Given the description of an element on the screen output the (x, y) to click on. 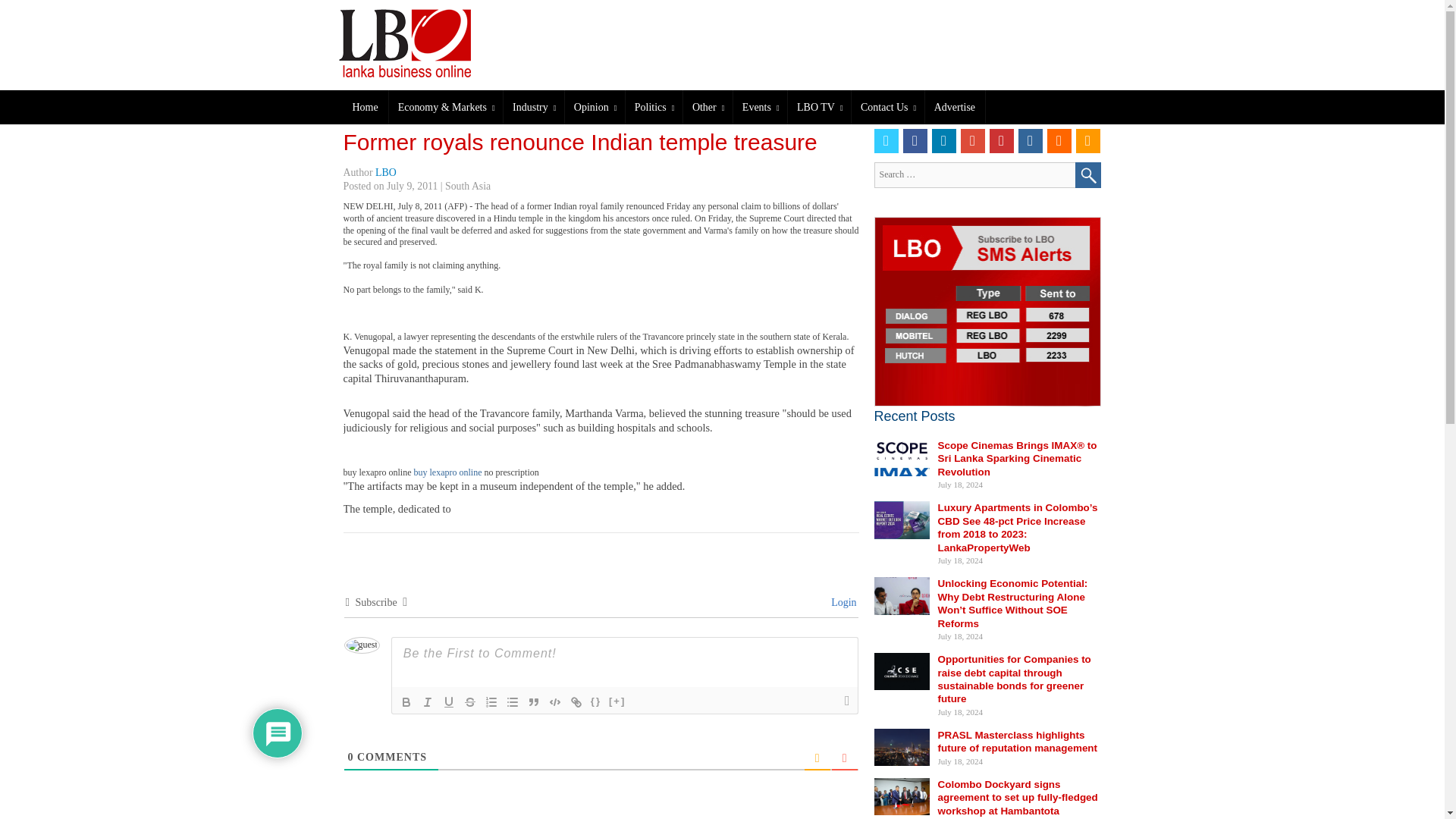
12:00 AM (412, 185)
Search (1087, 175)
View all posts by LBO (385, 172)
Search (1087, 175)
Underline (449, 701)
Lanka Business Online (427, 42)
Bold (406, 701)
Link (576, 701)
Strike (470, 701)
Blockquote (533, 701)
Ordered List (491, 701)
Unordered List (512, 701)
Italic (427, 701)
Lanka Business Online (414, 42)
Source Code (595, 701)
